Given the description of an element on the screen output the (x, y) to click on. 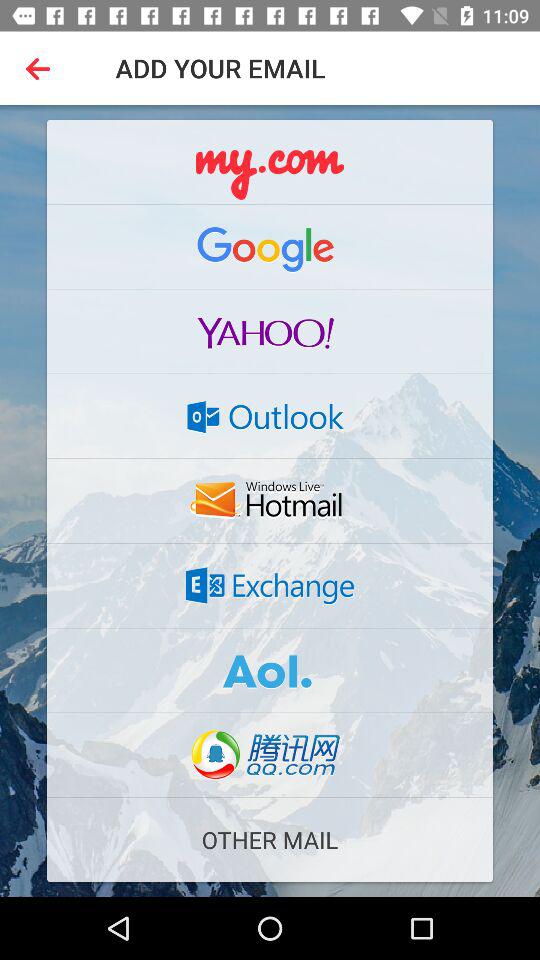
go to outlook (269, 416)
